Given the description of an element on the screen output the (x, y) to click on. 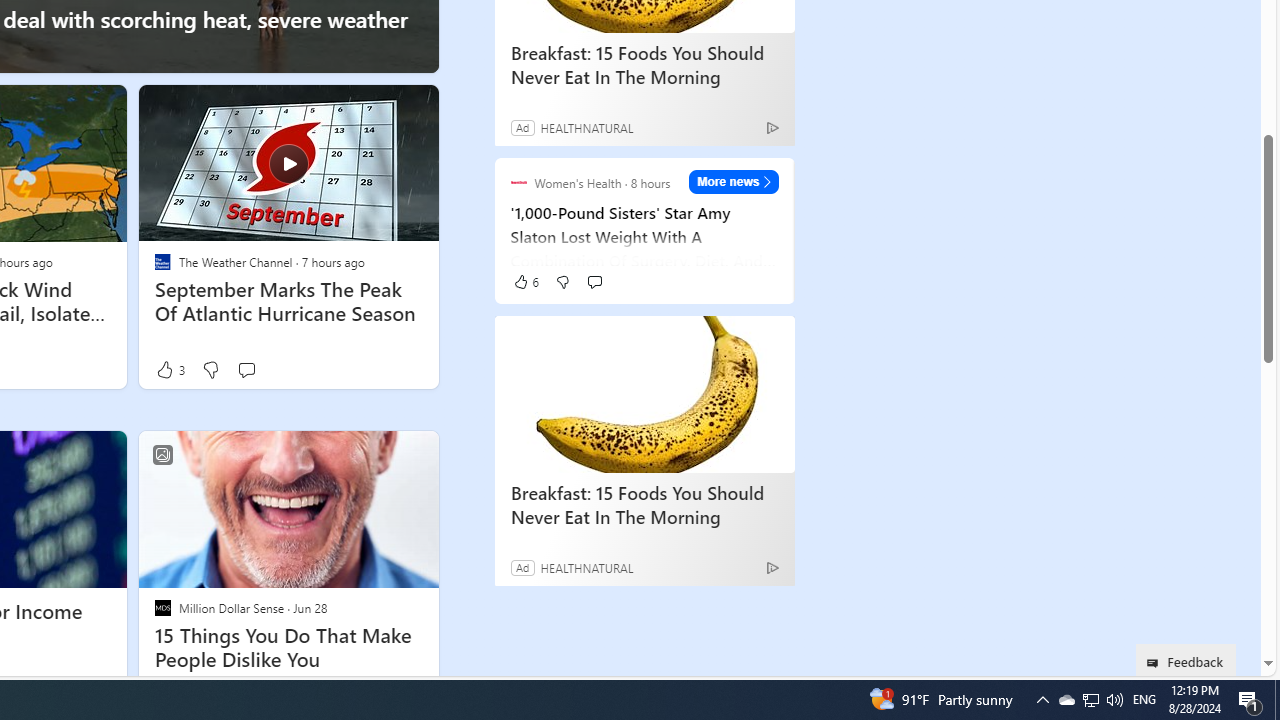
Breakfast: 15 Foods You Should Never Eat In The Morning (644, 394)
HEALTHNATURAL (586, 567)
September Marks The Peak Of Atlantic Hurricane Season (287, 301)
Breakfast: 15 Foods You Should Never Eat In The Morning (644, 504)
